Given the description of an element on the screen output the (x, y) to click on. 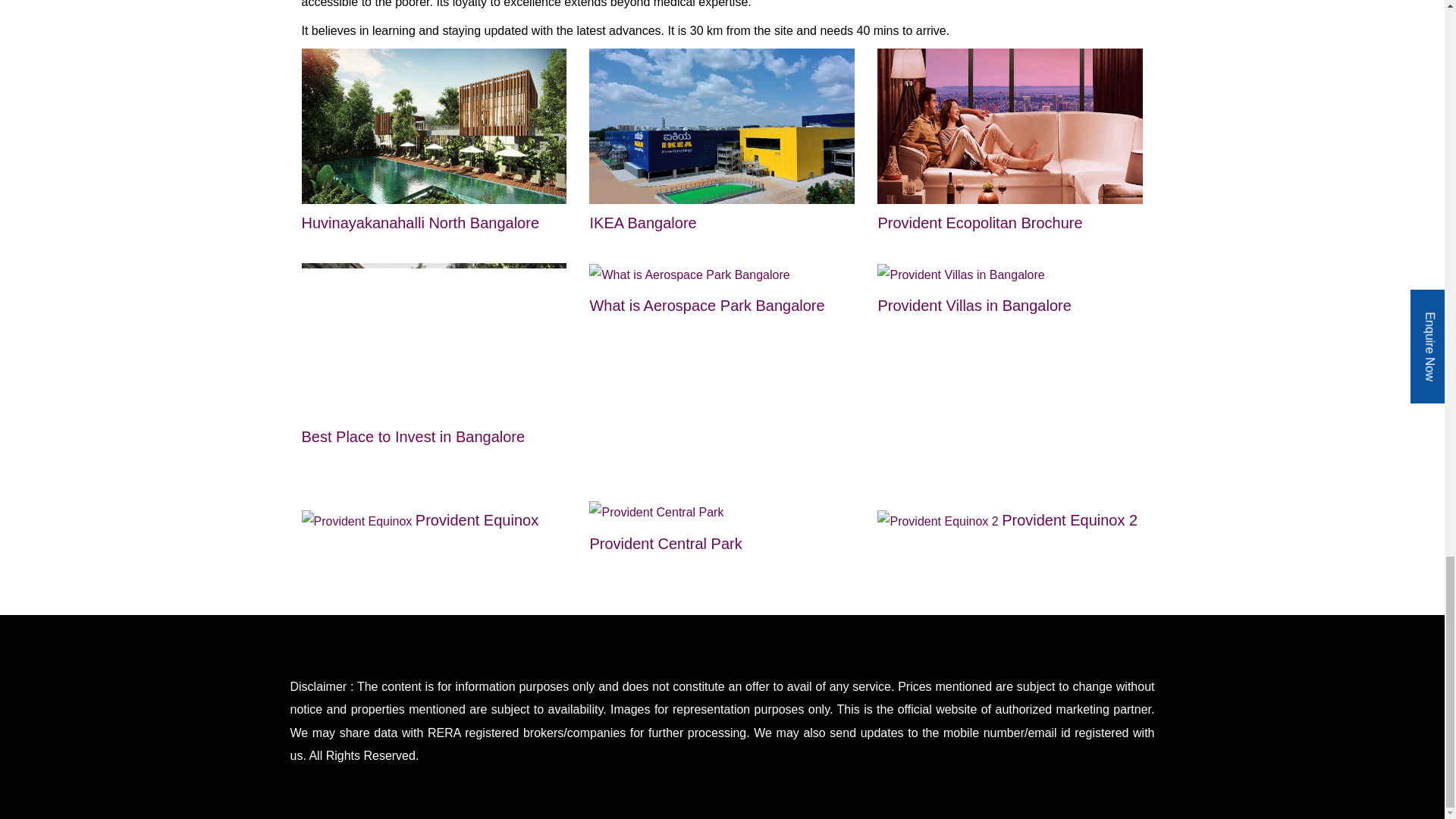
Provident Villas in Bangalore (973, 289)
Provident Equinox 2 (1007, 521)
IKEA Bangalore (721, 174)
What is Aerospace Park Bangalore (706, 289)
Best Place to Invest in Bangalore (434, 389)
Provident Villas in Bangalore (960, 274)
Huvinayakanahalli North Bangalore (434, 174)
IKEA Bangalore (721, 125)
Provident Equinox (419, 521)
Provident Equinox (419, 521)
